Given the description of an element on the screen output the (x, y) to click on. 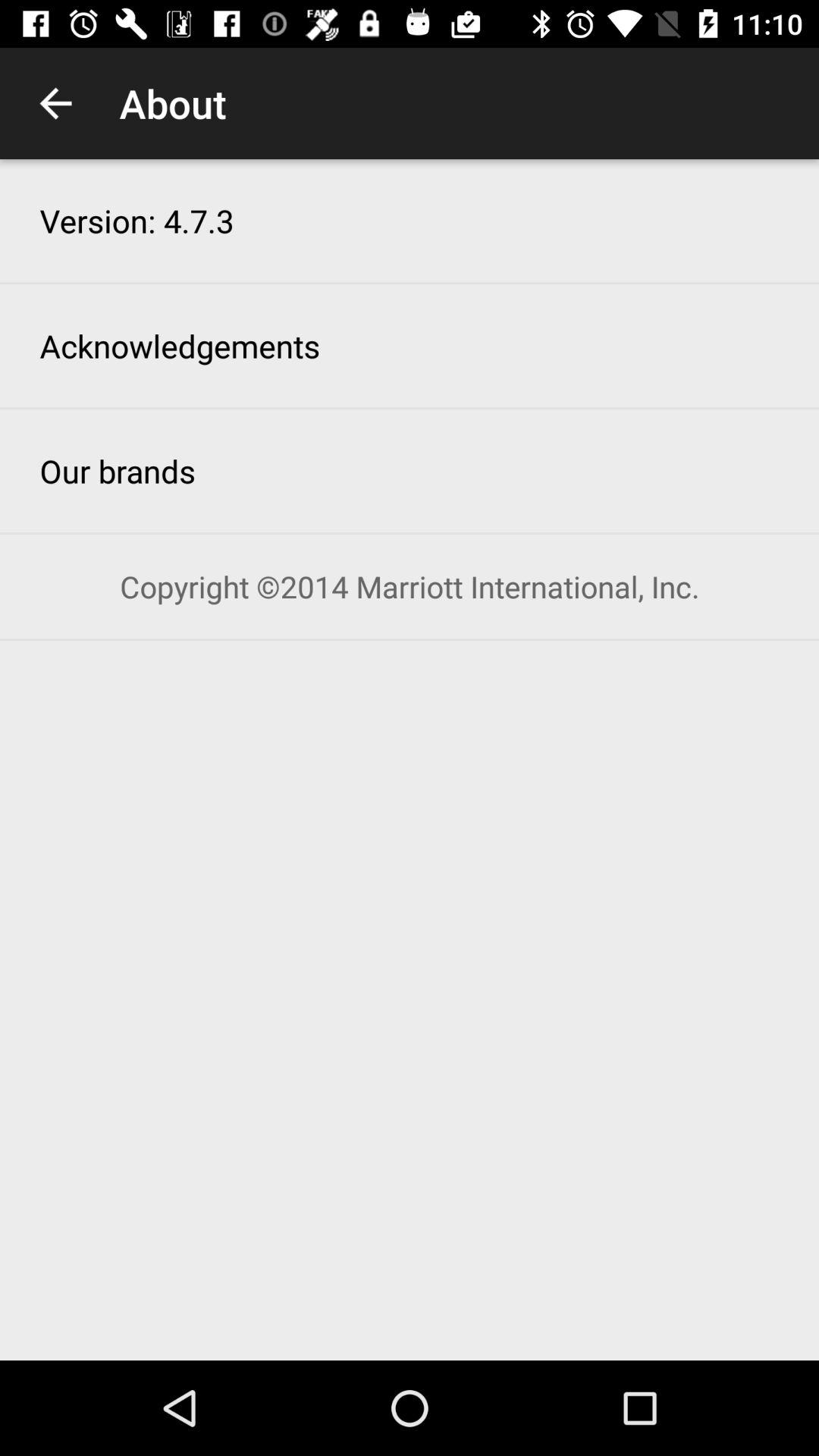
turn on the item above the acknowledgements icon (136, 220)
